Given the description of an element on the screen output the (x, y) to click on. 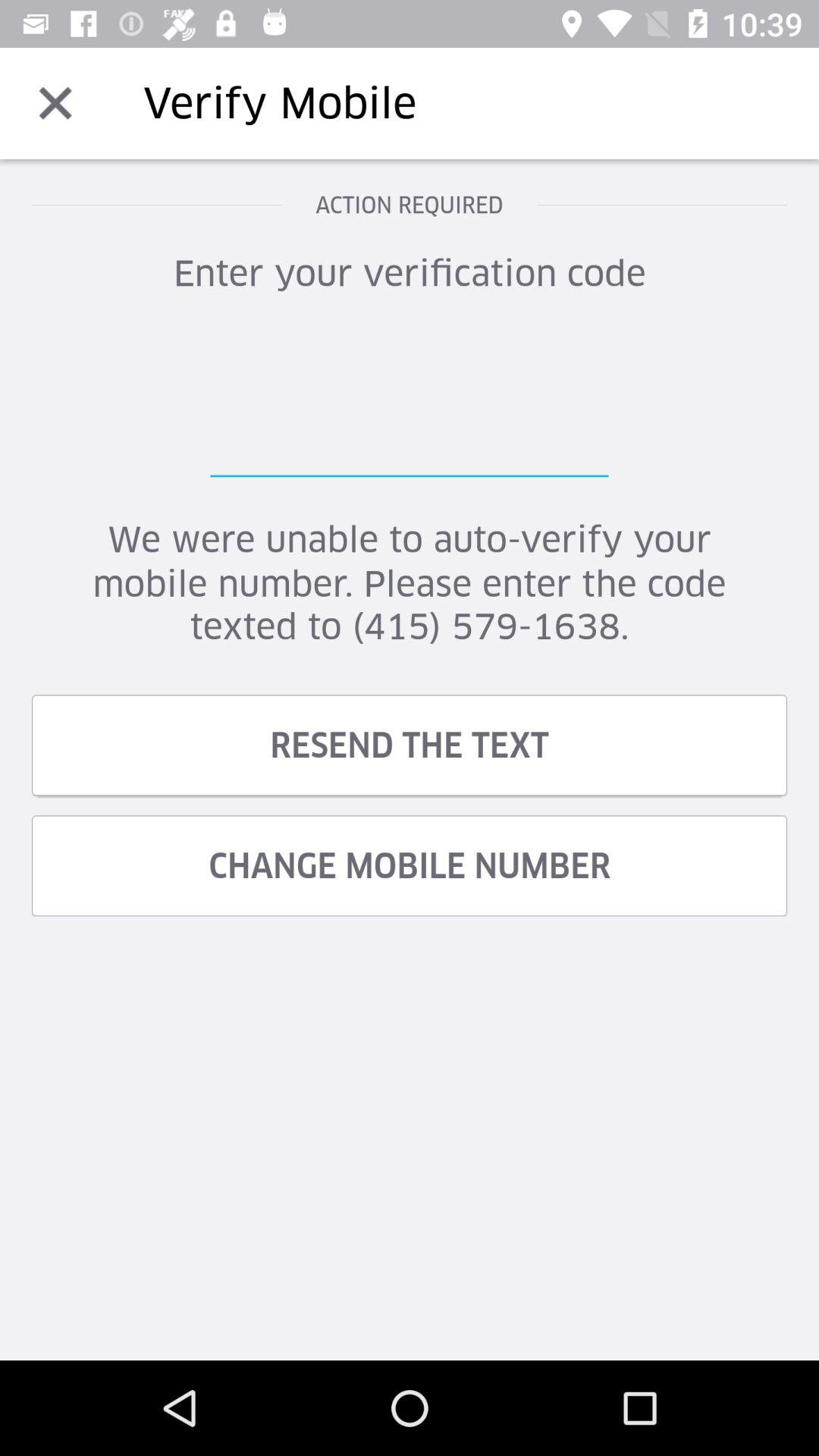
choose the item below enter your verification item (409, 401)
